Given the description of an element on the screen output the (x, y) to click on. 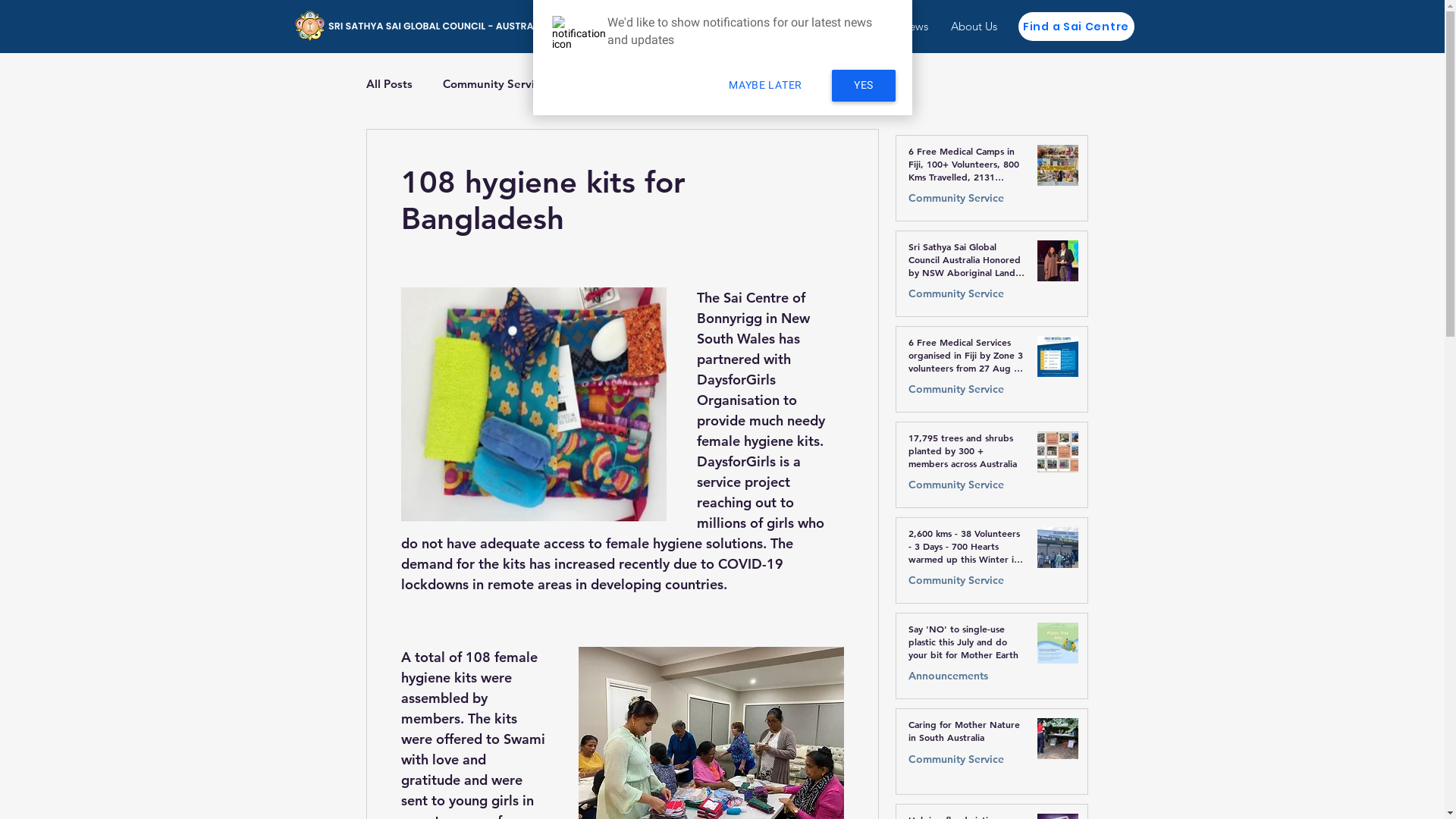
About Us Element type: text (972, 25)
Community Service Element type: text (494, 82)
MAYBE LATER Element type: text (765, 85)
Community Service Element type: text (956, 388)
Community Service Element type: text (956, 484)
News Element type: text (913, 25)
Announcements Element type: text (700, 82)
Find a Sai Centre Element type: text (1075, 26)
Community Service Element type: text (956, 580)
Caring for Mother Nature in South Australia Element type: text (966, 733)
All Posts Element type: text (388, 82)
Community Service Element type: text (956, 759)
Community Service Element type: text (956, 293)
YES Element type: text (863, 85)
Home Element type: text (621, 25)
Our Programs Element type: text (841, 25)
Devotion Element type: text (600, 82)
Announcements Element type: text (948, 675)
Community Service Element type: text (956, 197)
Global Akhanda Bhajans Element type: text (720, 25)
